Given the description of an element on the screen output the (x, y) to click on. 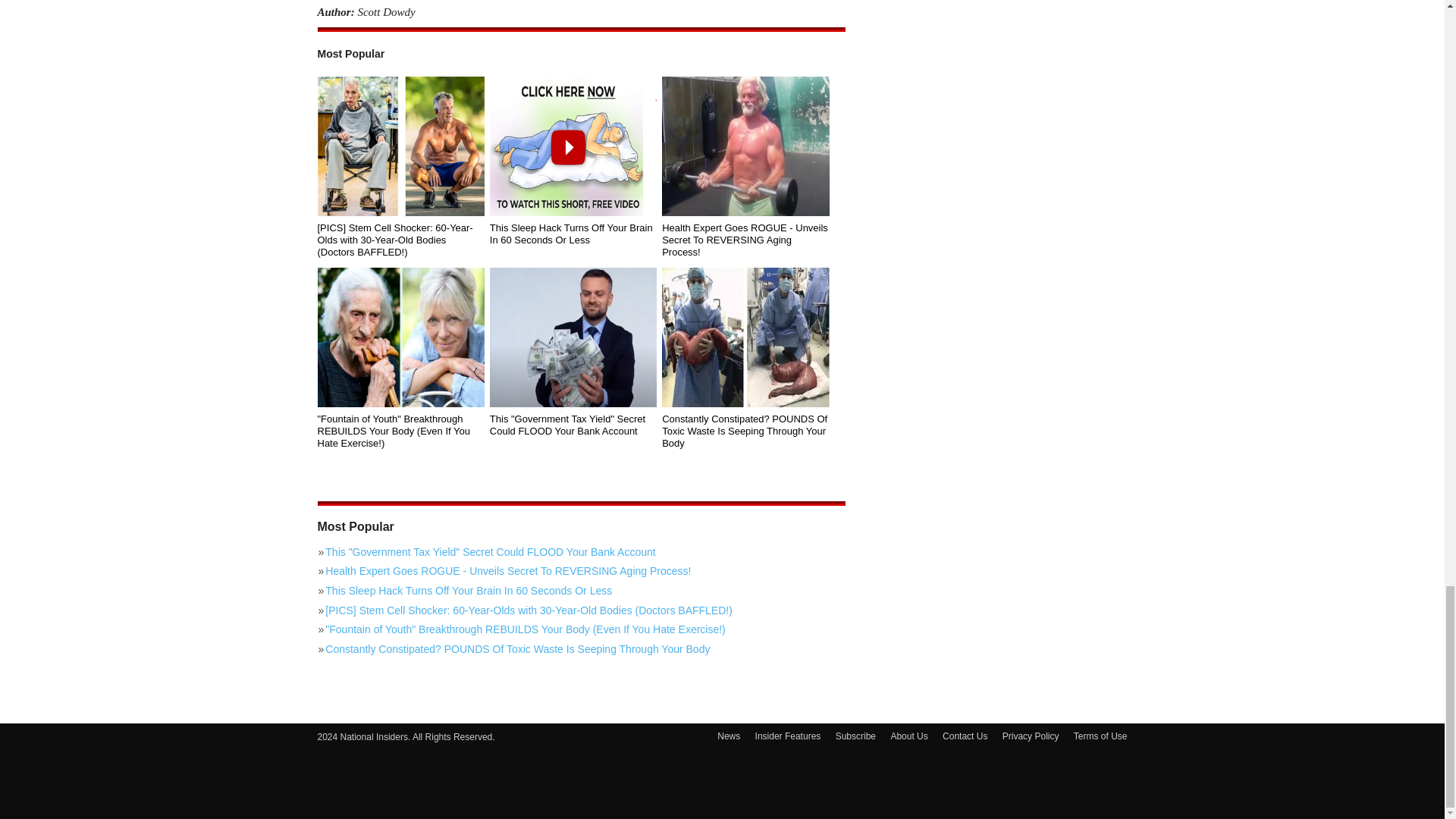
This  (572, 337)
This Sleep Hack Turns Off Your Brain In 60 Seconds Or Less (572, 233)
This Sleep Hack Turns Off Your Brain In 60 Seconds Or Less (572, 146)
This Sleep Hack Turns Off Your Brain In 60 Seconds Or Less (580, 590)
